Given the description of an element on the screen output the (x, y) to click on. 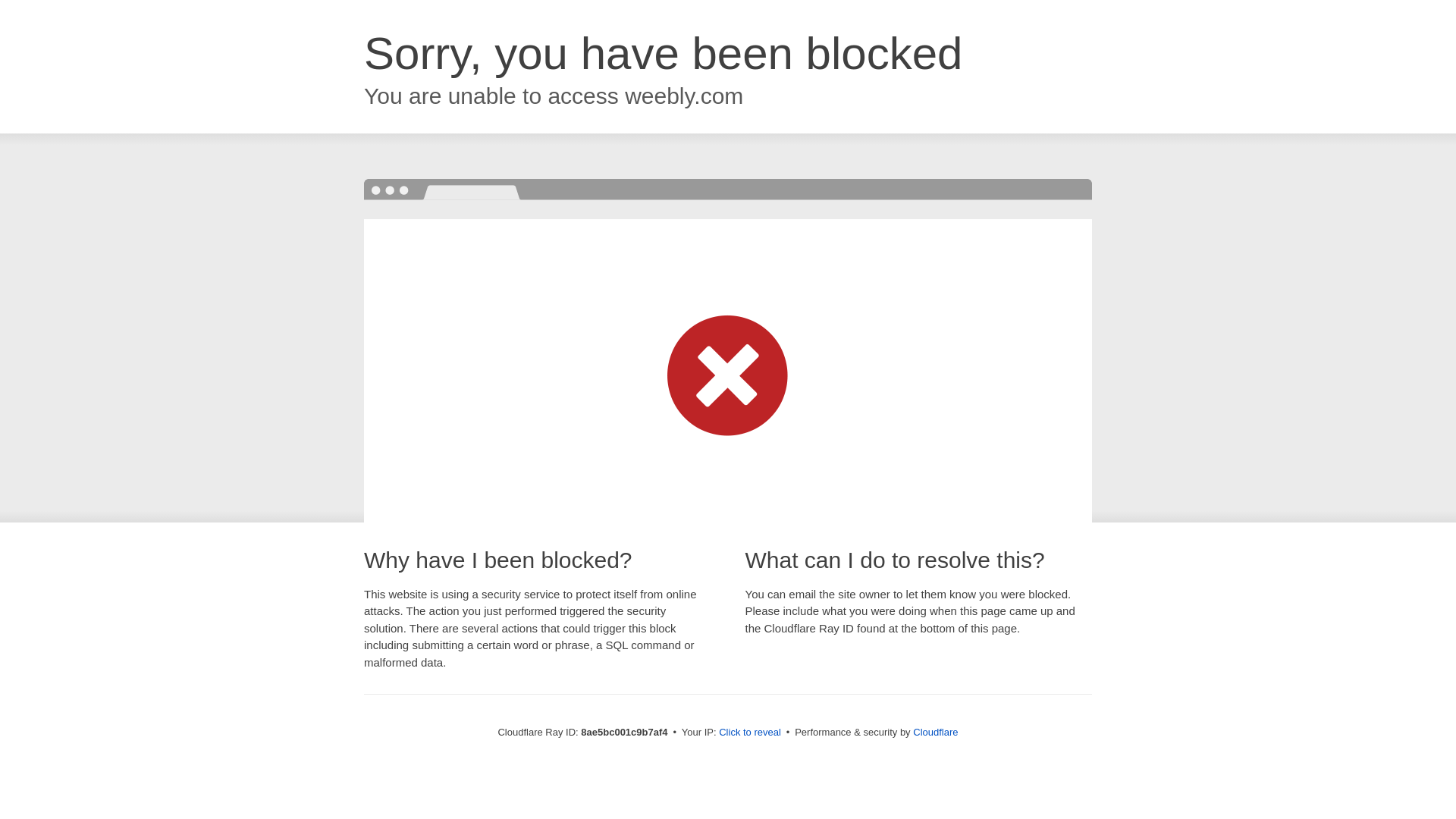
Click to reveal (749, 732)
Cloudflare (935, 731)
